Given the description of an element on the screen output the (x, y) to click on. 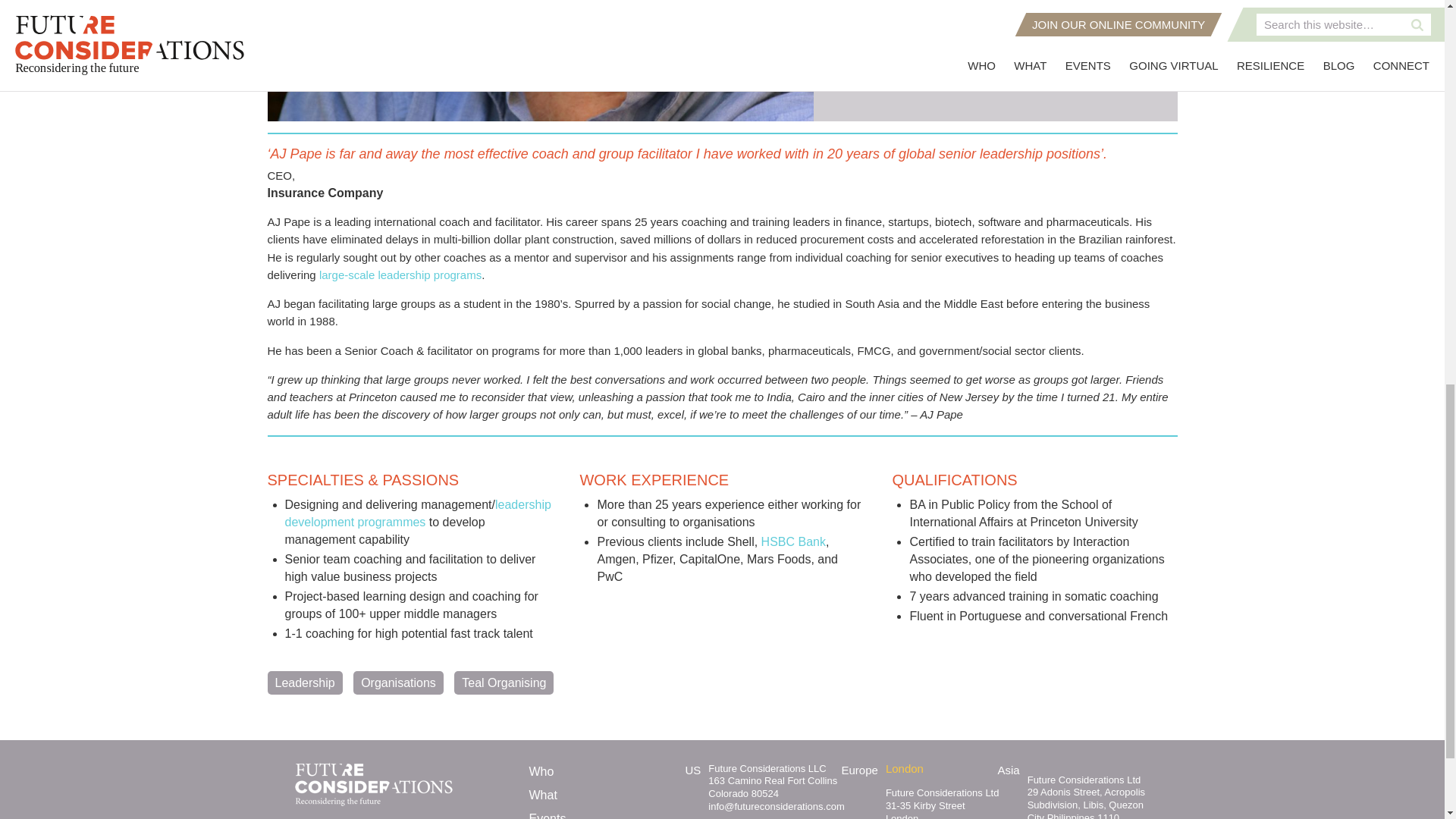
Twitter (844, 74)
Leadership (304, 681)
leadership development programmes (418, 512)
LinkedIn (877, 74)
Organisations (398, 681)
large-scale leadership programs (399, 274)
HSBC Bank (793, 541)
